Given the description of an element on the screen output the (x, y) to click on. 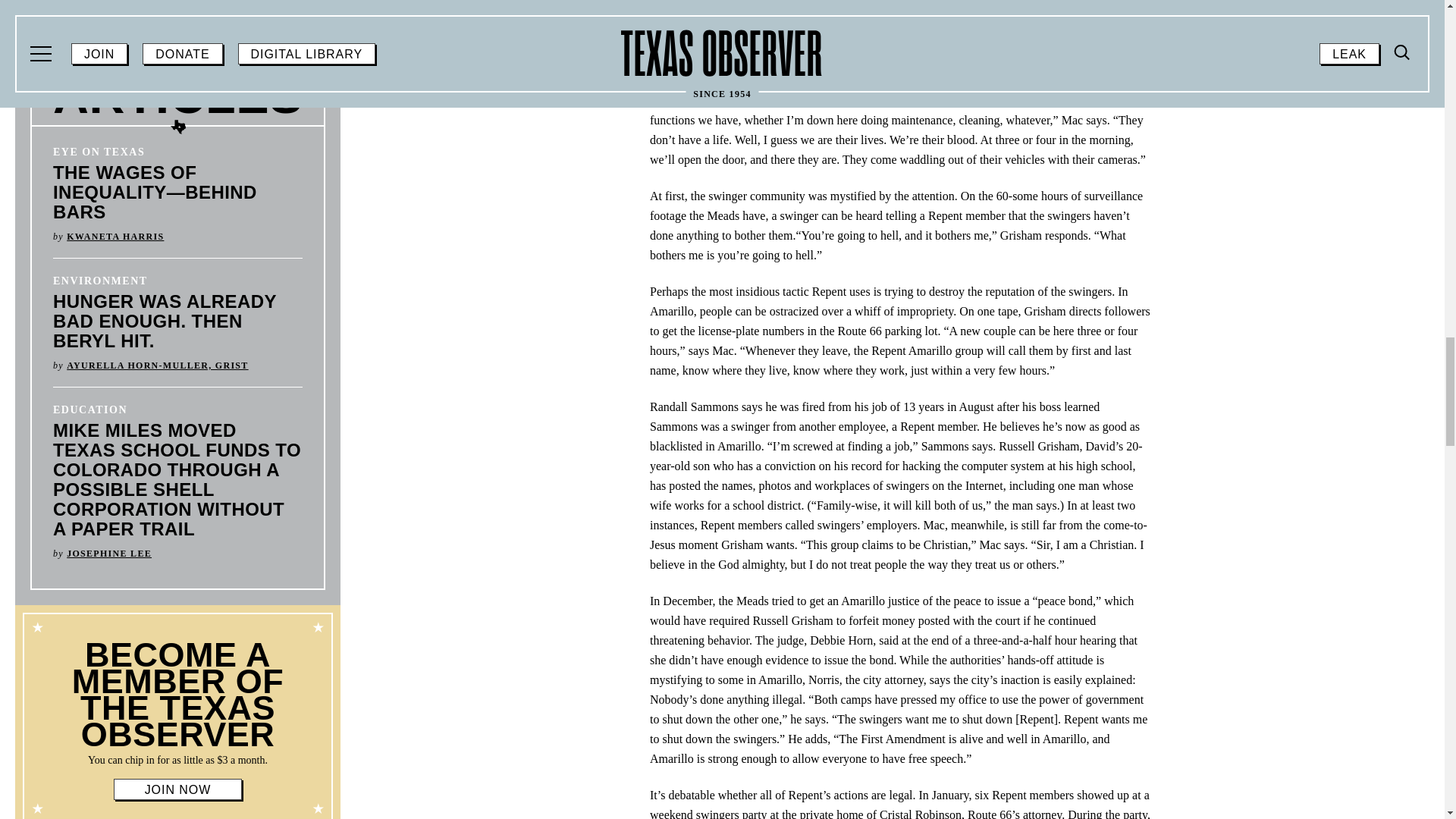
Page 8 (177, 703)
Page 8 (177, 759)
